Given the description of an element on the screen output the (x, y) to click on. 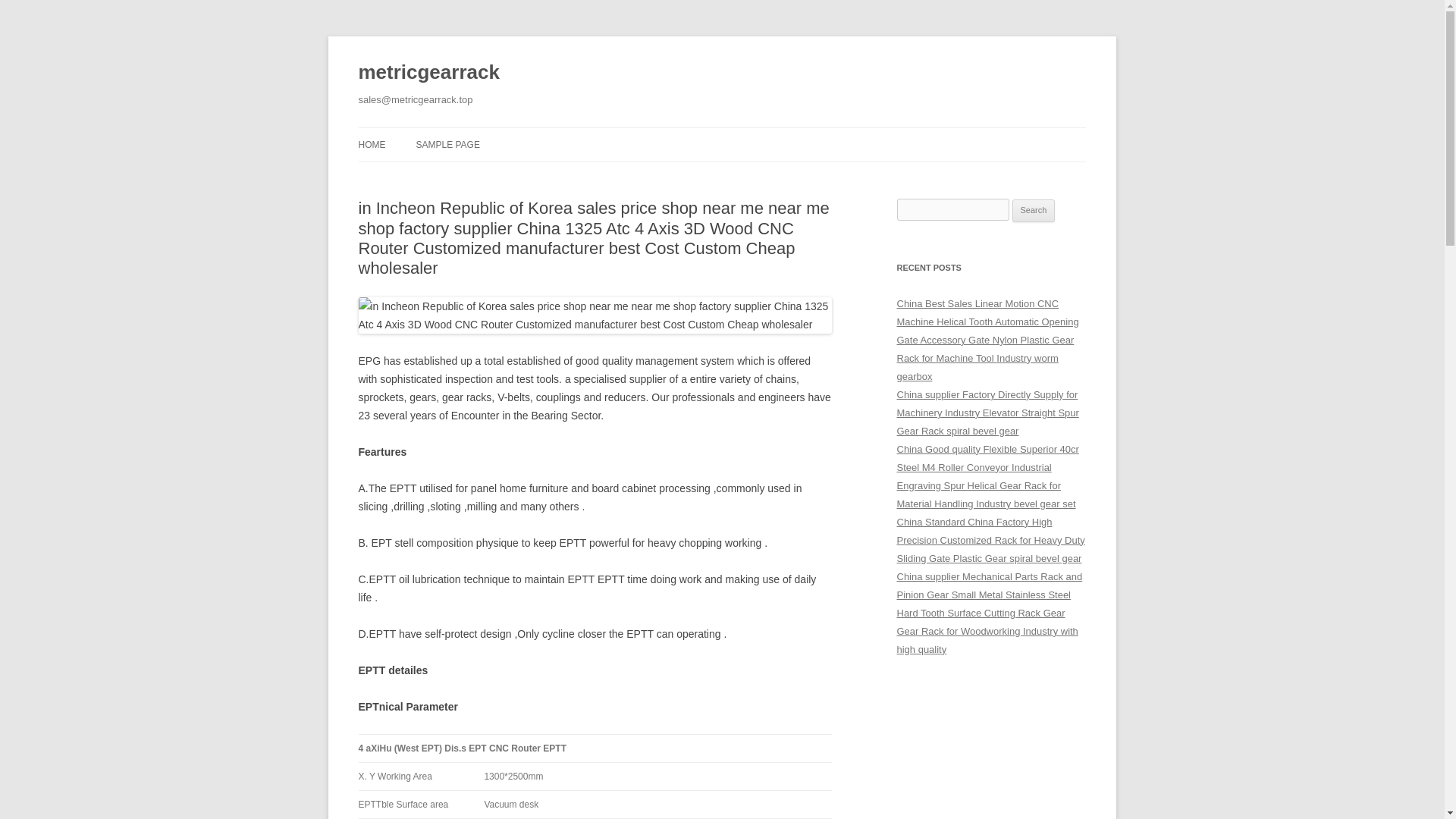
Search (1033, 210)
SAMPLE PAGE (446, 144)
metricgearrack (428, 72)
metricgearrack (428, 72)
Search (1033, 210)
